Given the description of an element on the screen output the (x, y) to click on. 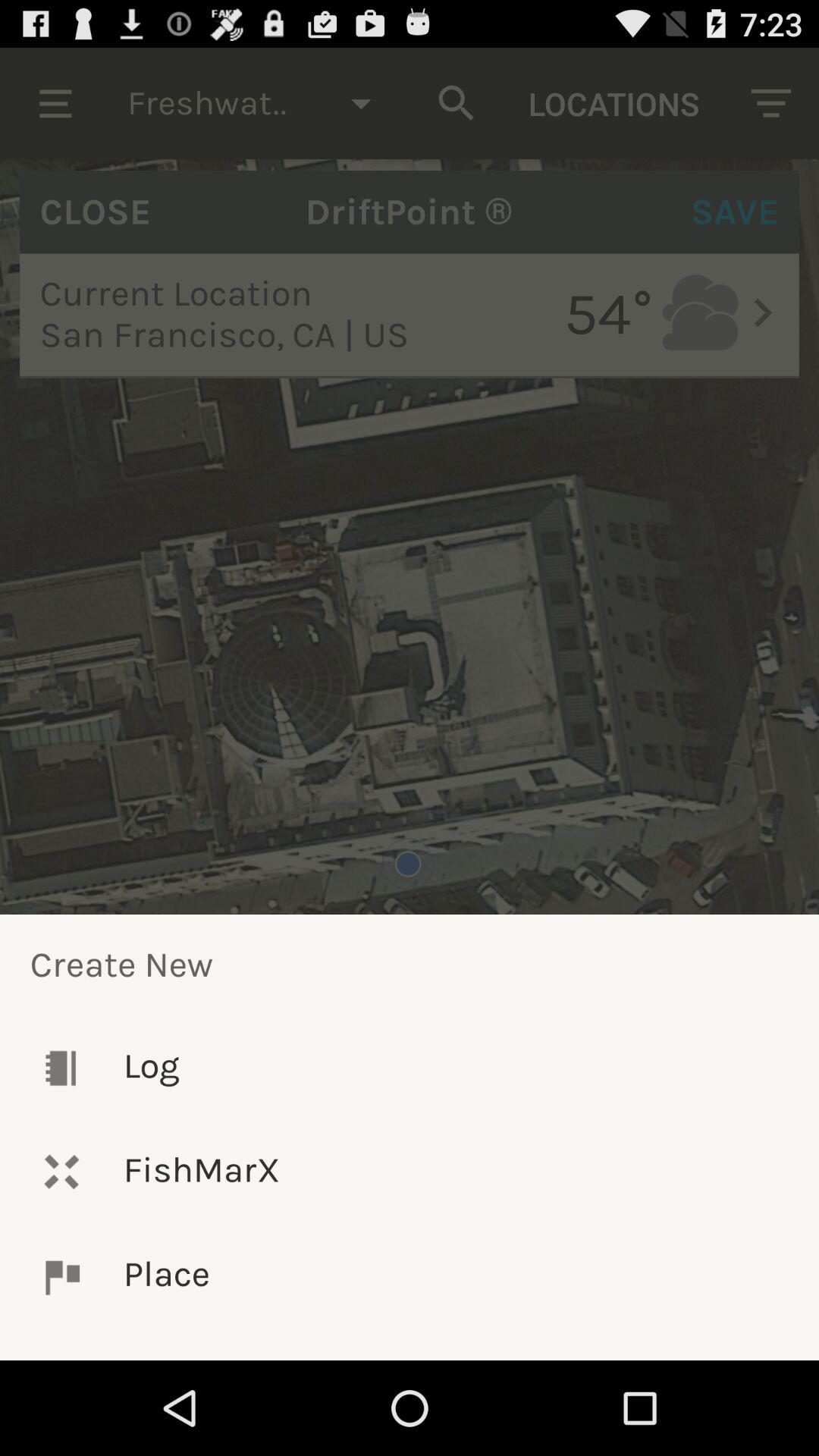
tap the icon above fishmarx (409, 1067)
